Given the description of an element on the screen output the (x, y) to click on. 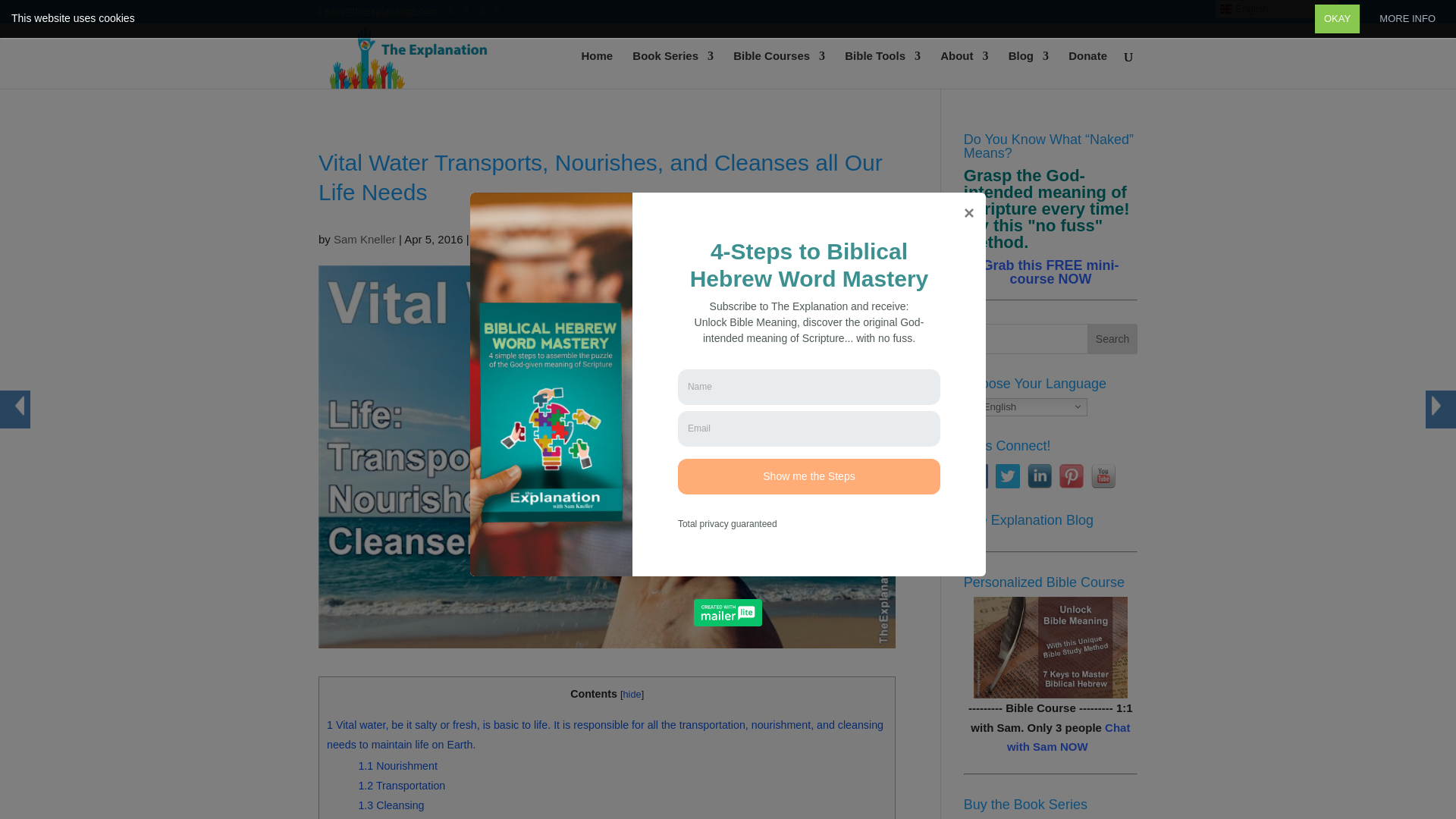
Book Series (672, 69)
Posts by Sam Kneller (364, 238)
Search (1112, 337)
Home (596, 69)
